Given the description of an element on the screen output the (x, y) to click on. 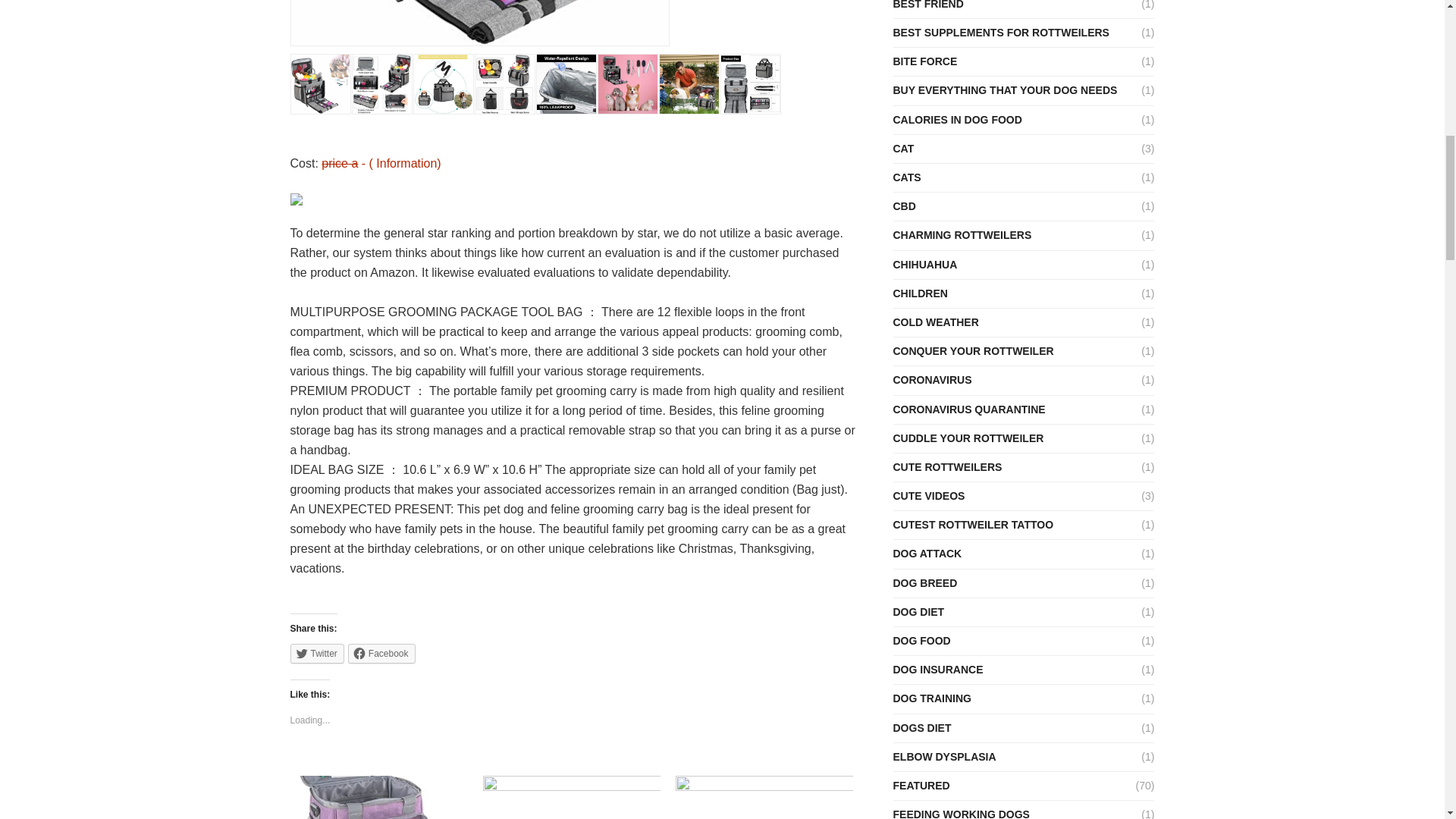
Click to share on Twitter (316, 653)
Twitter (316, 653)
Facebook (380, 653)
Click to share on Facebook (380, 653)
